Given the description of an element on the screen output the (x, y) to click on. 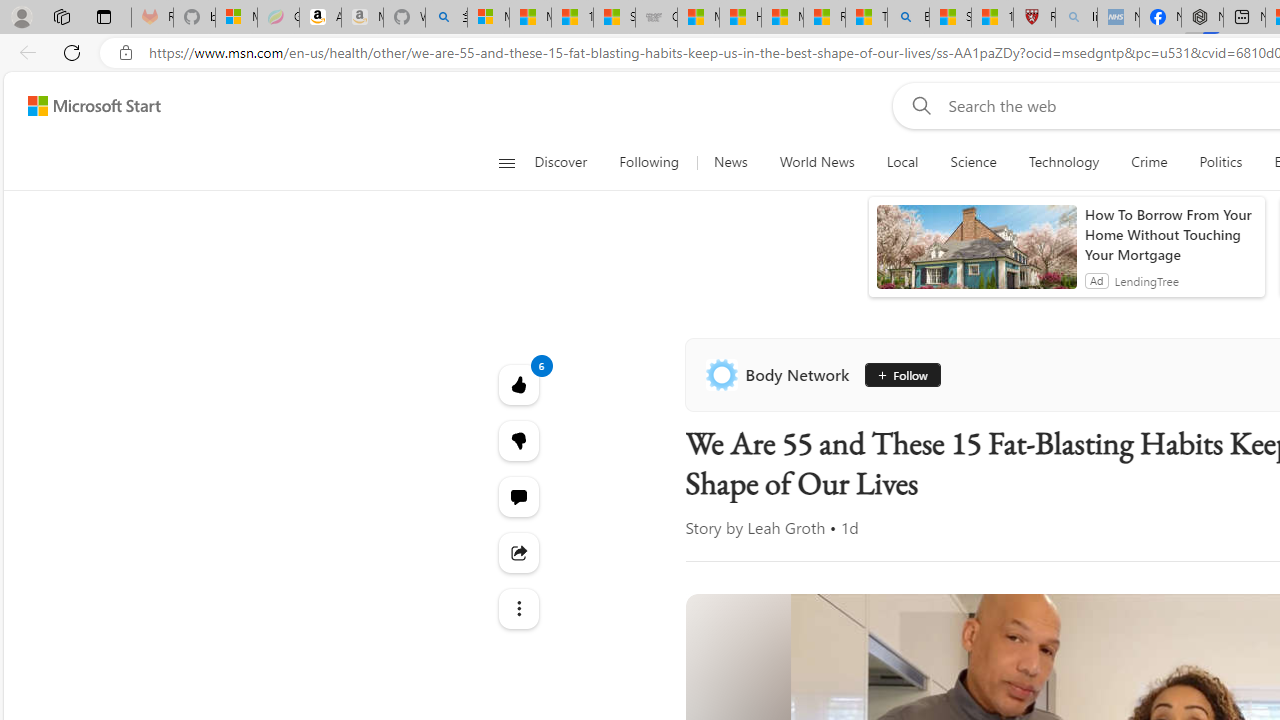
How I Got Rid of Microsoft Edge's Unnecessary Features (740, 17)
Bing (908, 17)
